Given the description of an element on the screen output the (x, y) to click on. 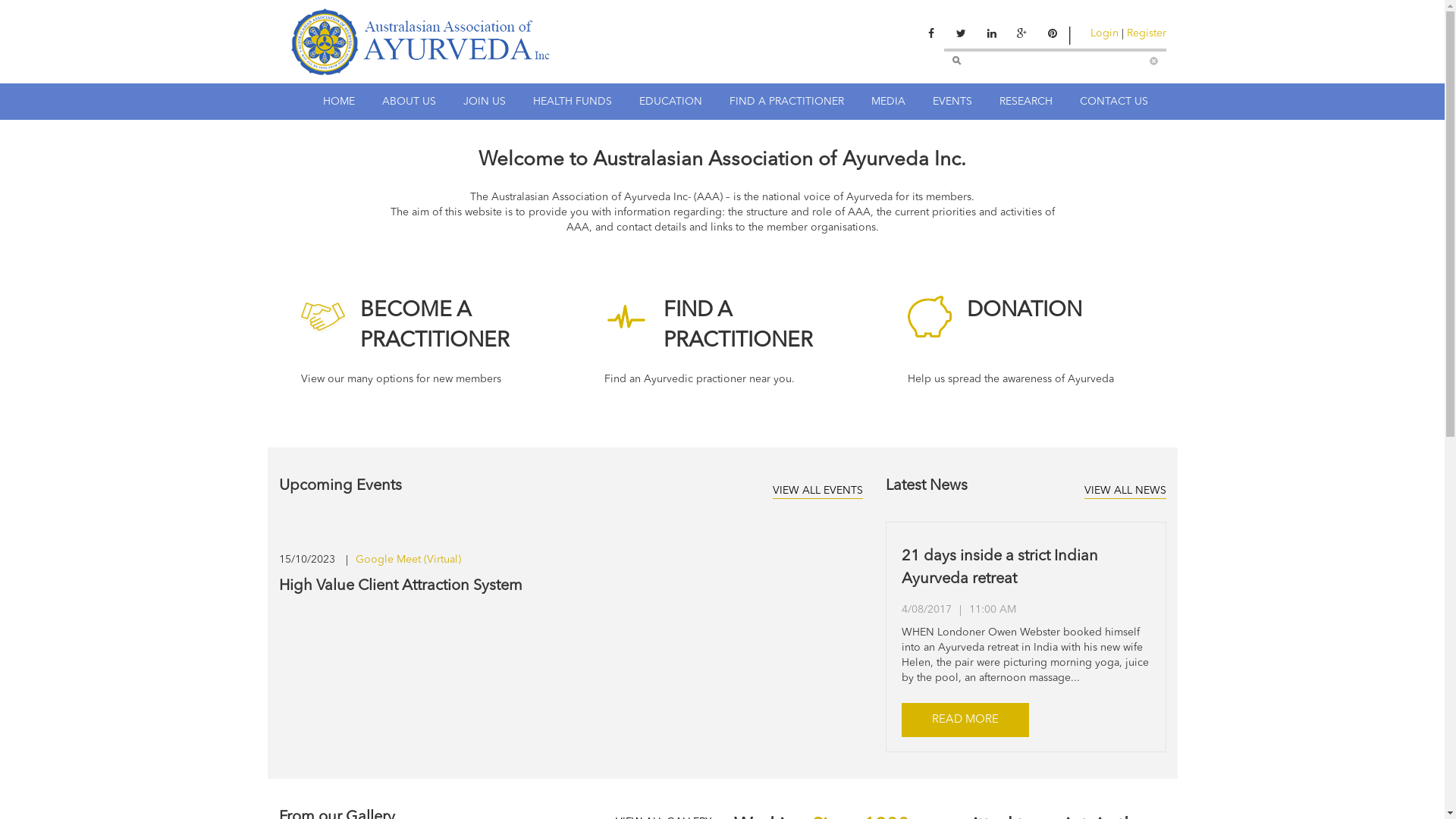
ABOUT US Element type: text (408, 101)
clear search Element type: hover (1153, 60)
READ MORE Element type: text (964, 719)
RESEARCH Element type: text (1025, 101)
CONTACT US Element type: text (1113, 101)
FIND A PRACTITIONER Element type: text (786, 101)
Login Element type: text (1104, 33)
VIEW ALL NEWS Element type: text (1125, 490)
Register Element type: text (1146, 33)
HOME Element type: text (338, 101)
High Value Client Attraction System Element type: text (400, 585)
JOIN US Element type: text (483, 101)
HEALTH FUNDS Element type: text (571, 101)
VIEW ALL EVENTS Element type: text (816, 490)
EVENTS Element type: text (952, 101)
EDUCATION Element type: text (669, 101)
MEDIA Element type: text (887, 101)
